Given the description of an element on the screen output the (x, y) to click on. 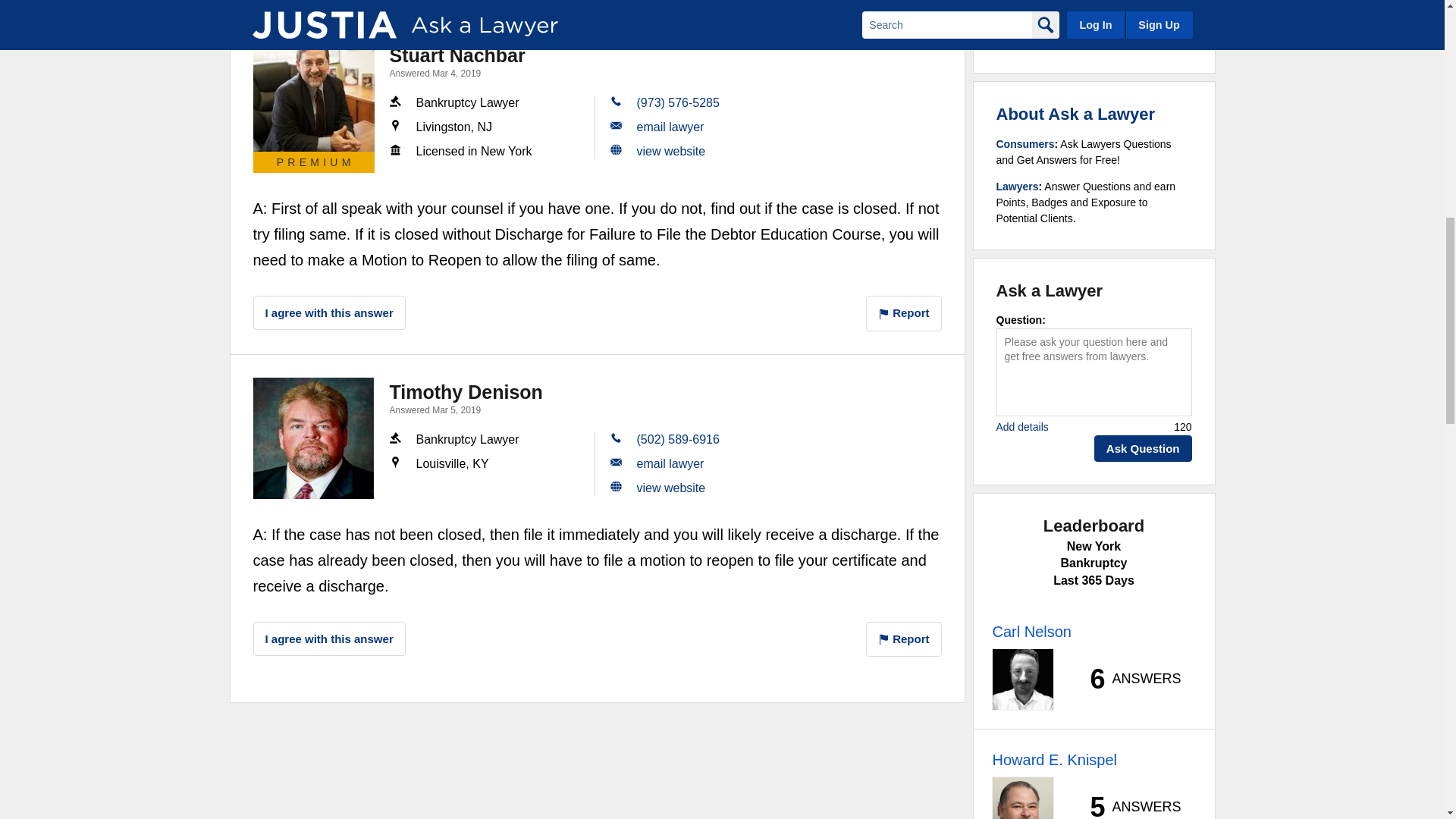
Ask a Lawyer - Leaderboard - Lawyer Name (1030, 630)
Ask a Lawyer - FAQs - Lawyers (1017, 186)
Timothy Denison (313, 437)
Ask a Lawyer - FAQs - Consumers (1024, 143)
Ask a Lawyer - Leaderboard - Lawyer Name (1053, 759)
Ask a Lawyer - Leaderboard - Lawyer Photo (1021, 679)
Ask a Lawyer - Leaderboard - Lawyer Stats (1127, 806)
Stuart Nachbar (313, 90)
Ask a Lawyer - Leaderboard - Lawyer Stats (1127, 678)
